Given the description of an element on the screen output the (x, y) to click on. 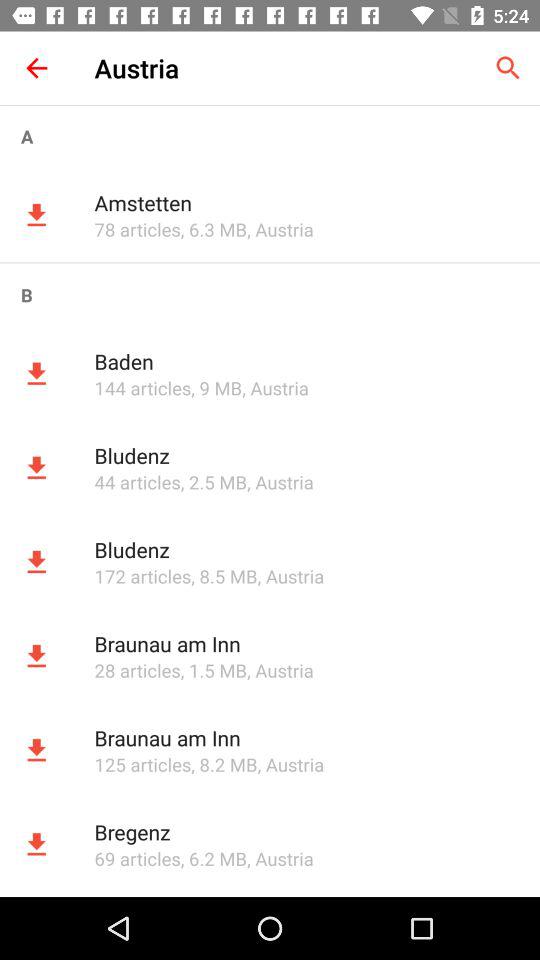
tap icon to the left of the , 8.5 mb (142, 575)
